Given the description of an element on the screen output the (x, y) to click on. 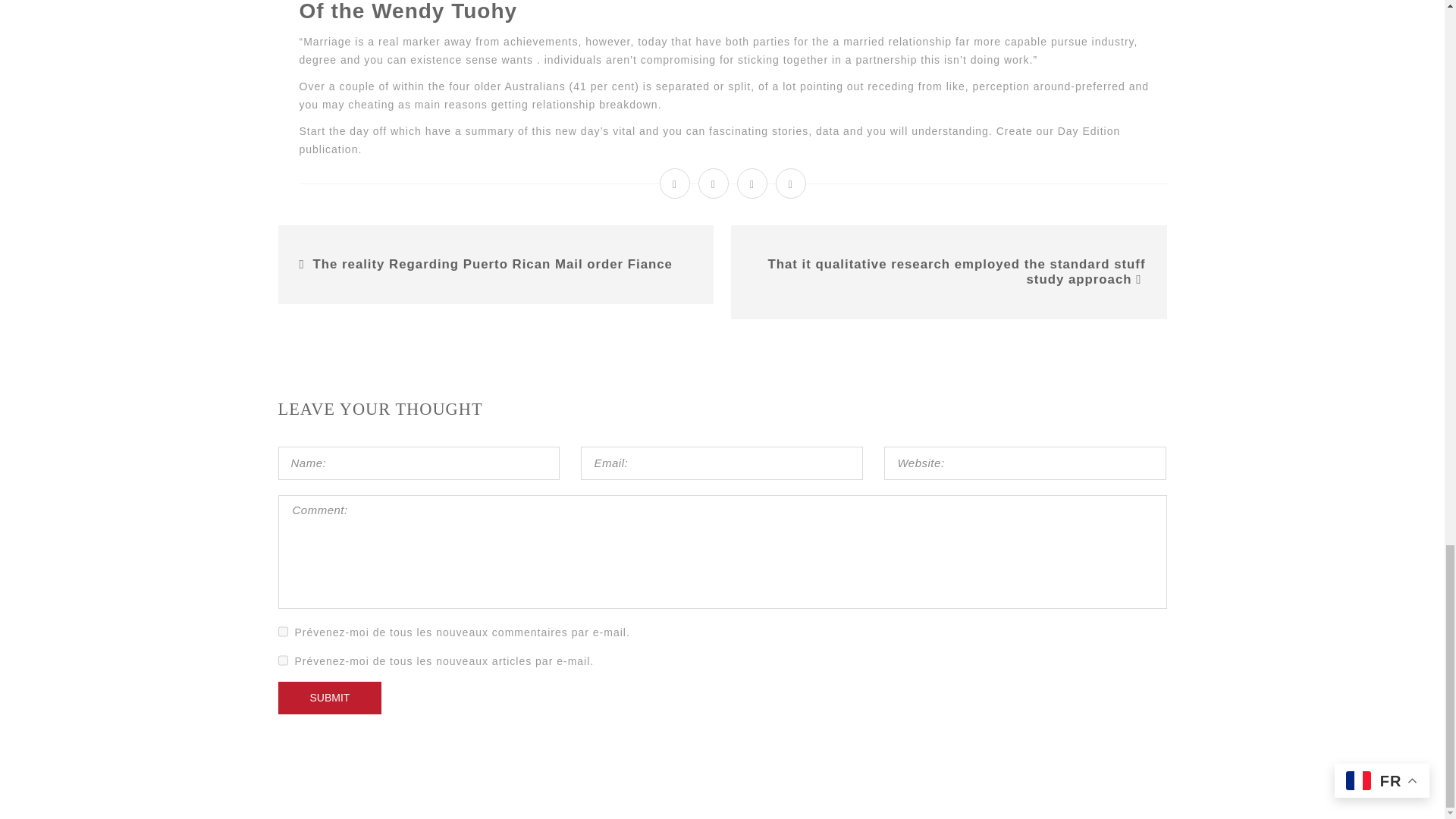
Share on Twitter (713, 183)
Submit (329, 697)
The reality Regarding Puerto Rican Mail order Fiance (492, 264)
Submit (329, 697)
Share on Pinterest (791, 183)
Share on Facebook (674, 183)
